Given the description of an element on the screen output the (x, y) to click on. 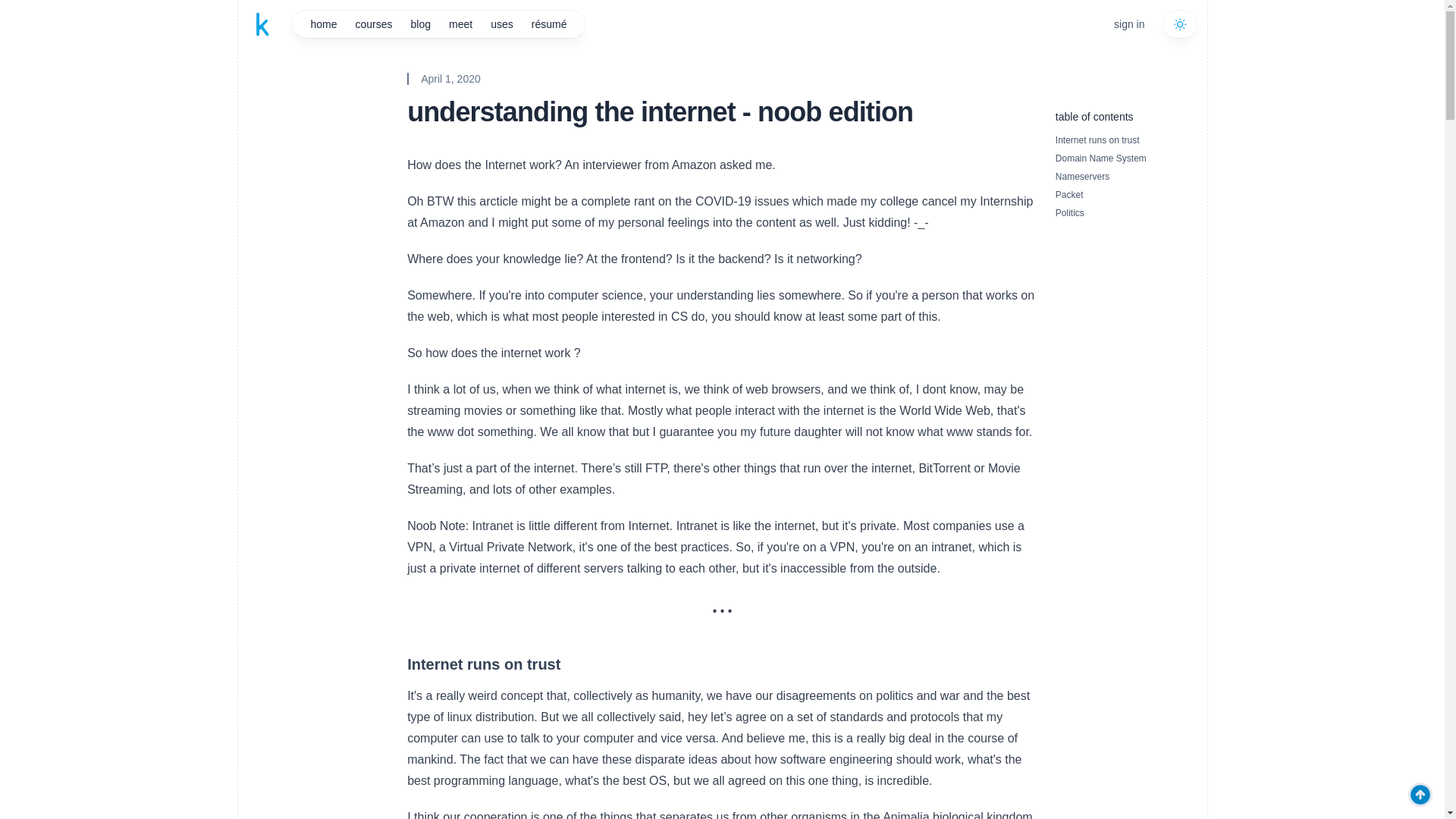
home (323, 23)
courses (373, 23)
sign in (1129, 24)
Internet runs on trust (1097, 140)
Nameservers (1082, 176)
Domain Name System (1101, 158)
Packet (1069, 194)
uses (501, 23)
Politics (1069, 213)
Internet runs on trust (483, 664)
meet (460, 23)
blog (420, 23)
